Given the description of an element on the screen output the (x, y) to click on. 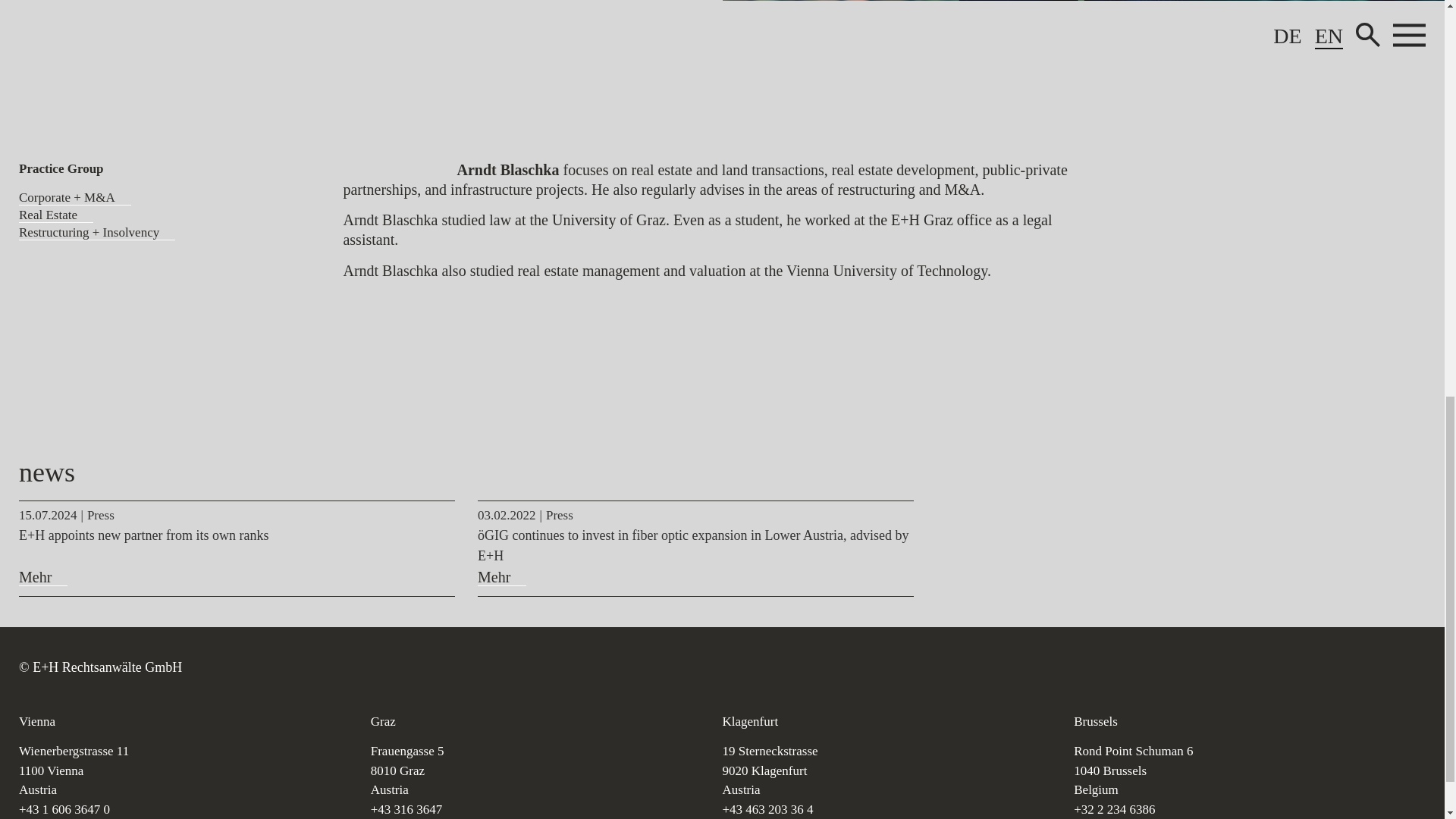
Instagram (1116, 667)
Real Estate (55, 215)
Mehr (501, 577)
Mehr (42, 577)
Facebook (1080, 667)
LinkedIn (1152, 667)
